Given the description of an element on the screen output the (x, y) to click on. 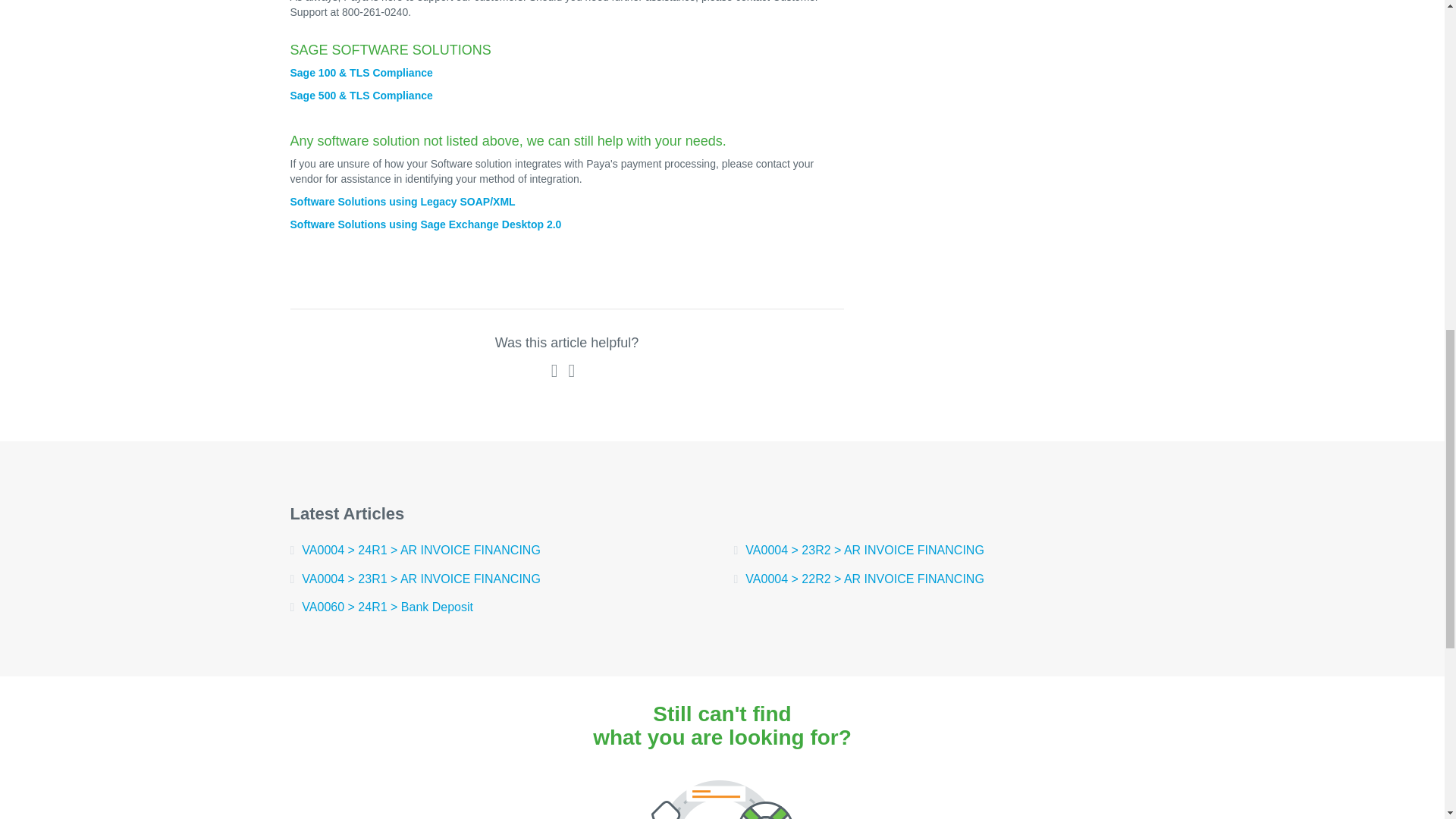
Software Solutions using Sage Exchange Desktop 2.0 (424, 224)
